Given the description of an element on the screen output the (x, y) to click on. 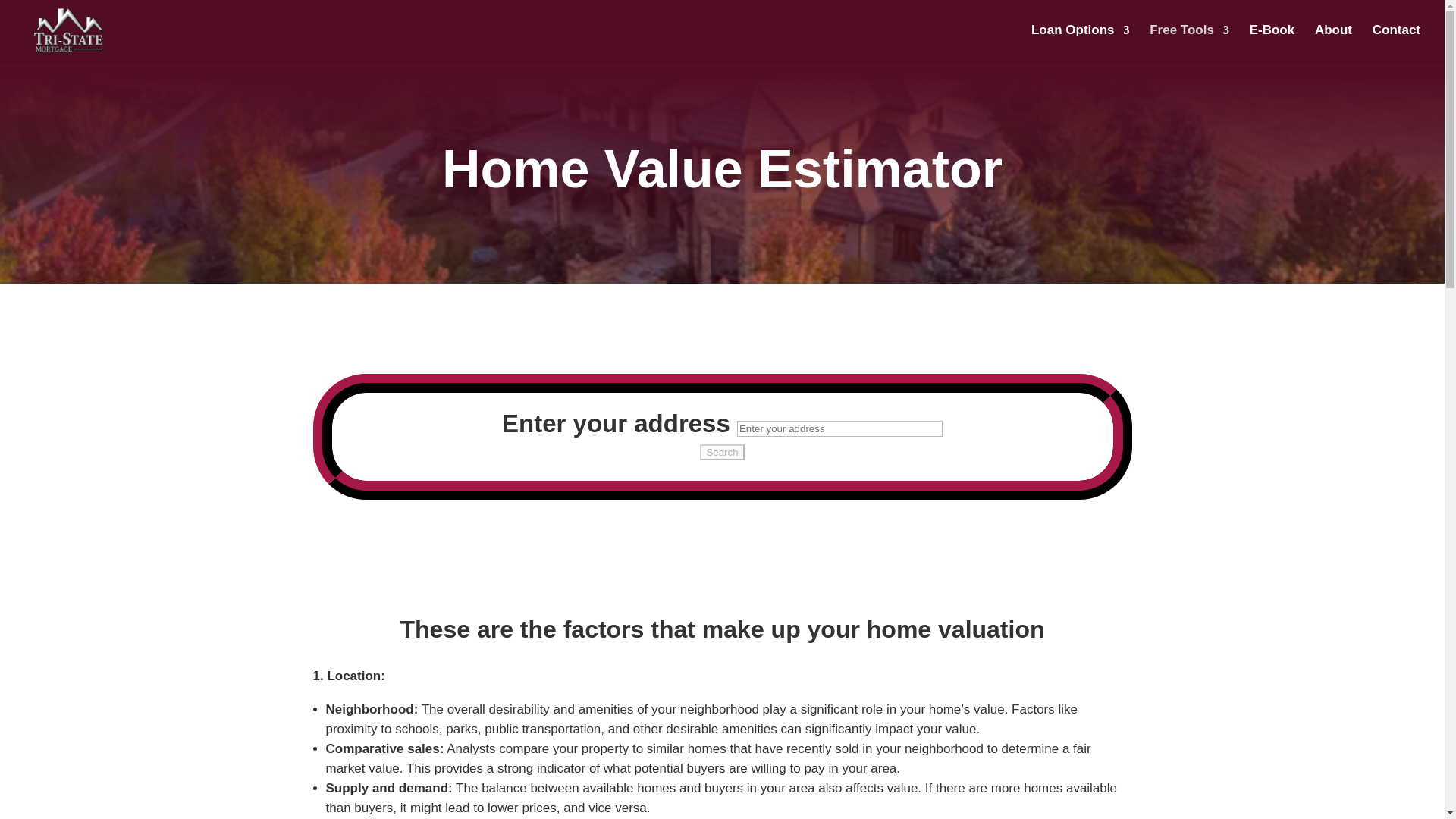
Free Tools (1189, 42)
E-Book (1272, 42)
Search (722, 452)
Contact (1397, 42)
About (1333, 42)
Loan Options (1079, 42)
Search (722, 452)
